Given the description of an element on the screen output the (x, y) to click on. 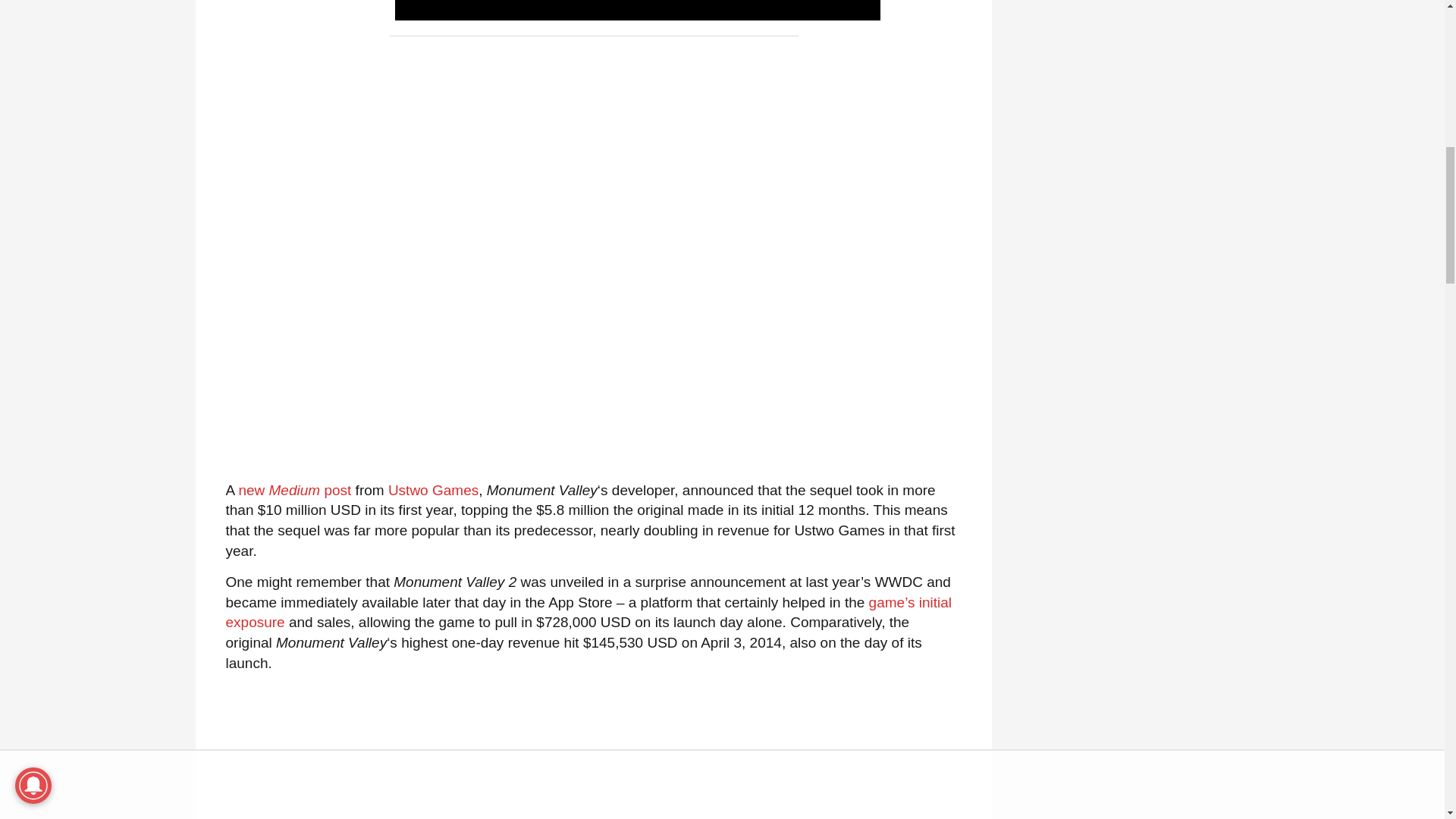
new Medium post (294, 489)
Ustwo Games (433, 489)
